Given the description of an element on the screen output the (x, y) to click on. 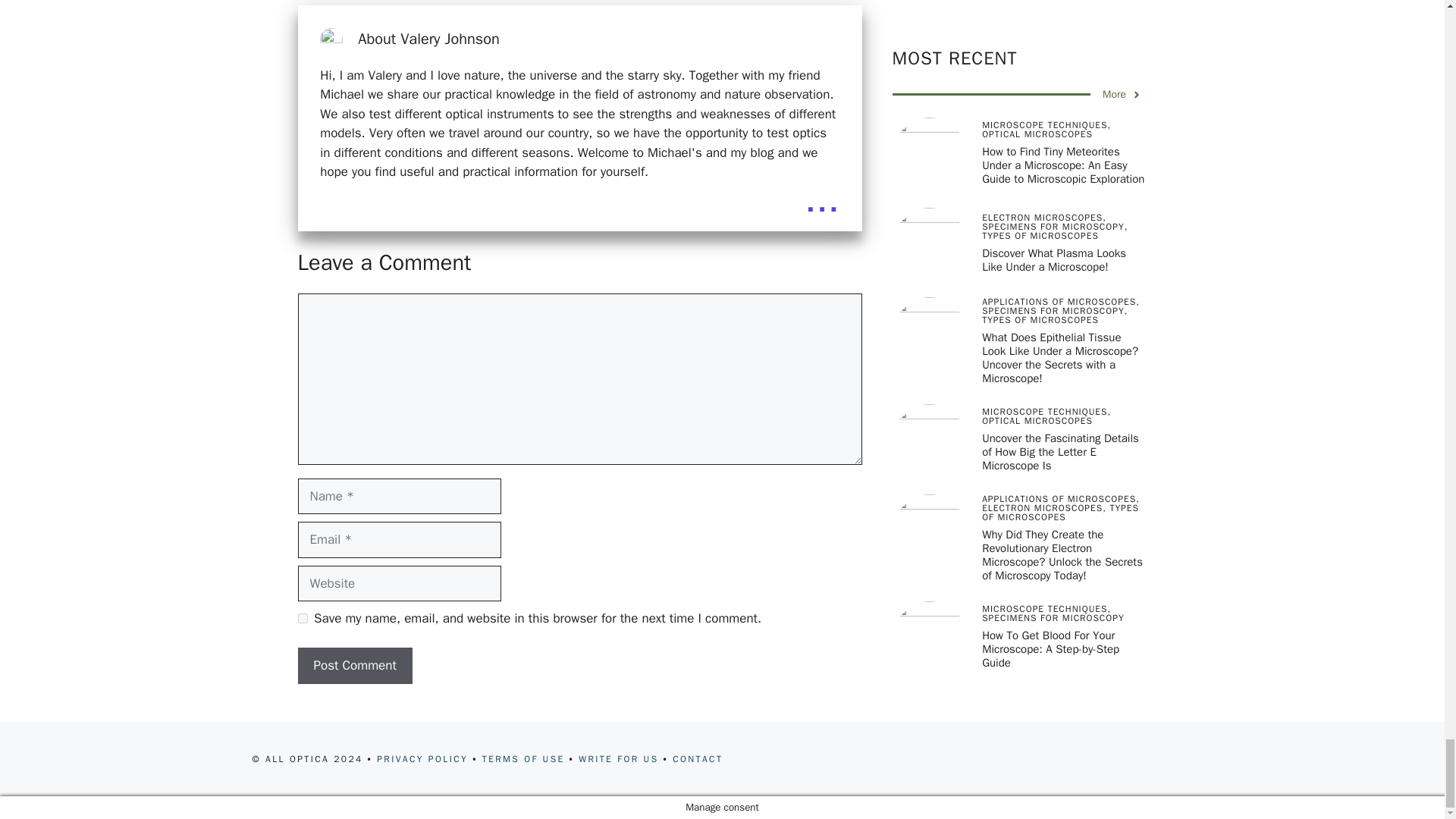
yes (302, 618)
Post Comment (354, 665)
Read more (822, 199)
